Given the description of an element on the screen output the (x, y) to click on. 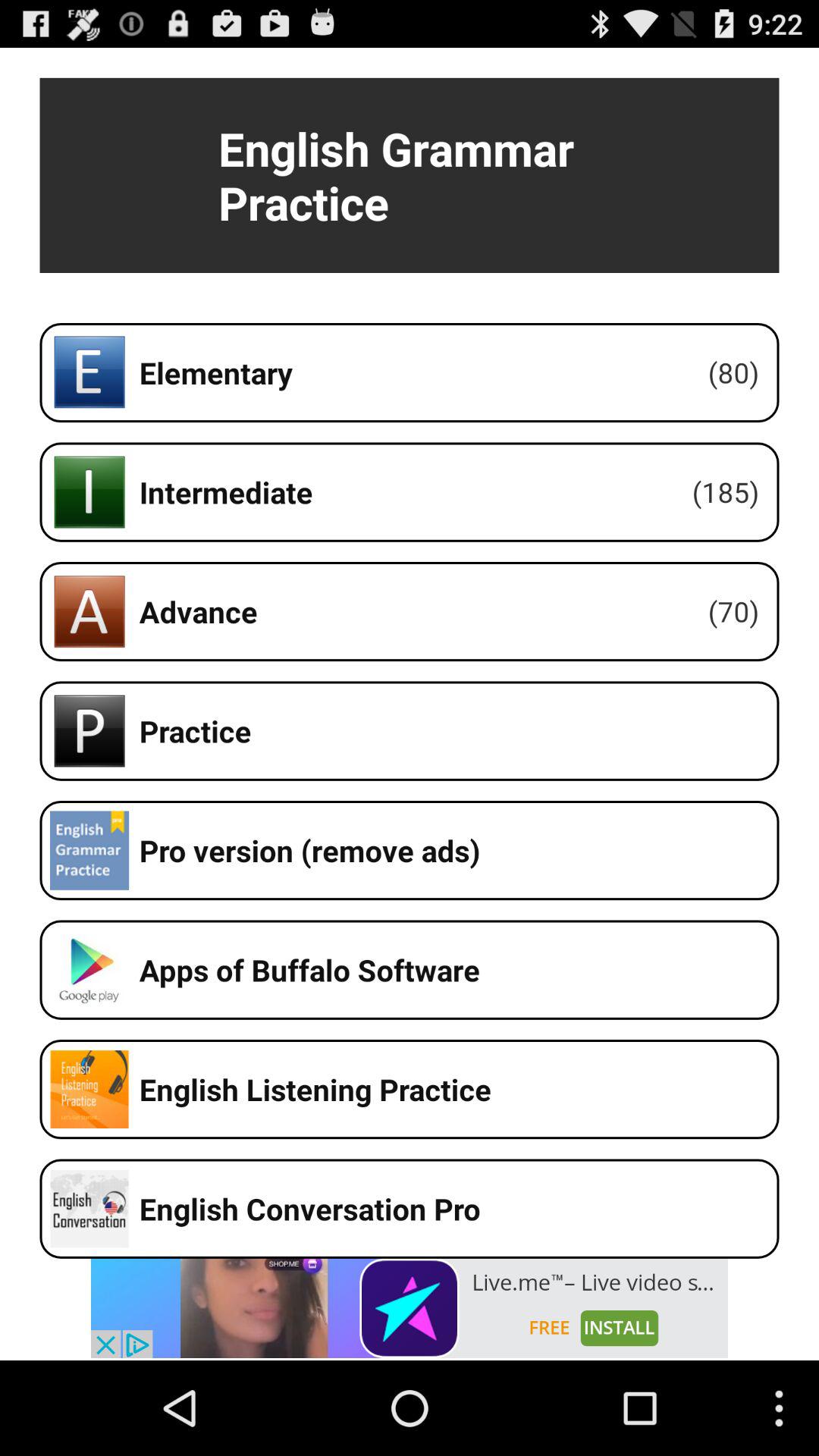
select the icon which is left side of the english listening practice (89, 1088)
select the practice icon (89, 730)
click on the practice icon (89, 730)
click a logo left to advance (89, 611)
click on the icon beside intermediate (89, 491)
click the google play store logo on the web page (89, 970)
select the icon which is left side of the elementary (89, 372)
select the icon which is left side of the intermediate (89, 491)
click the logo left to english listening practice (89, 1088)
